Given the description of an element on the screen output the (x, y) to click on. 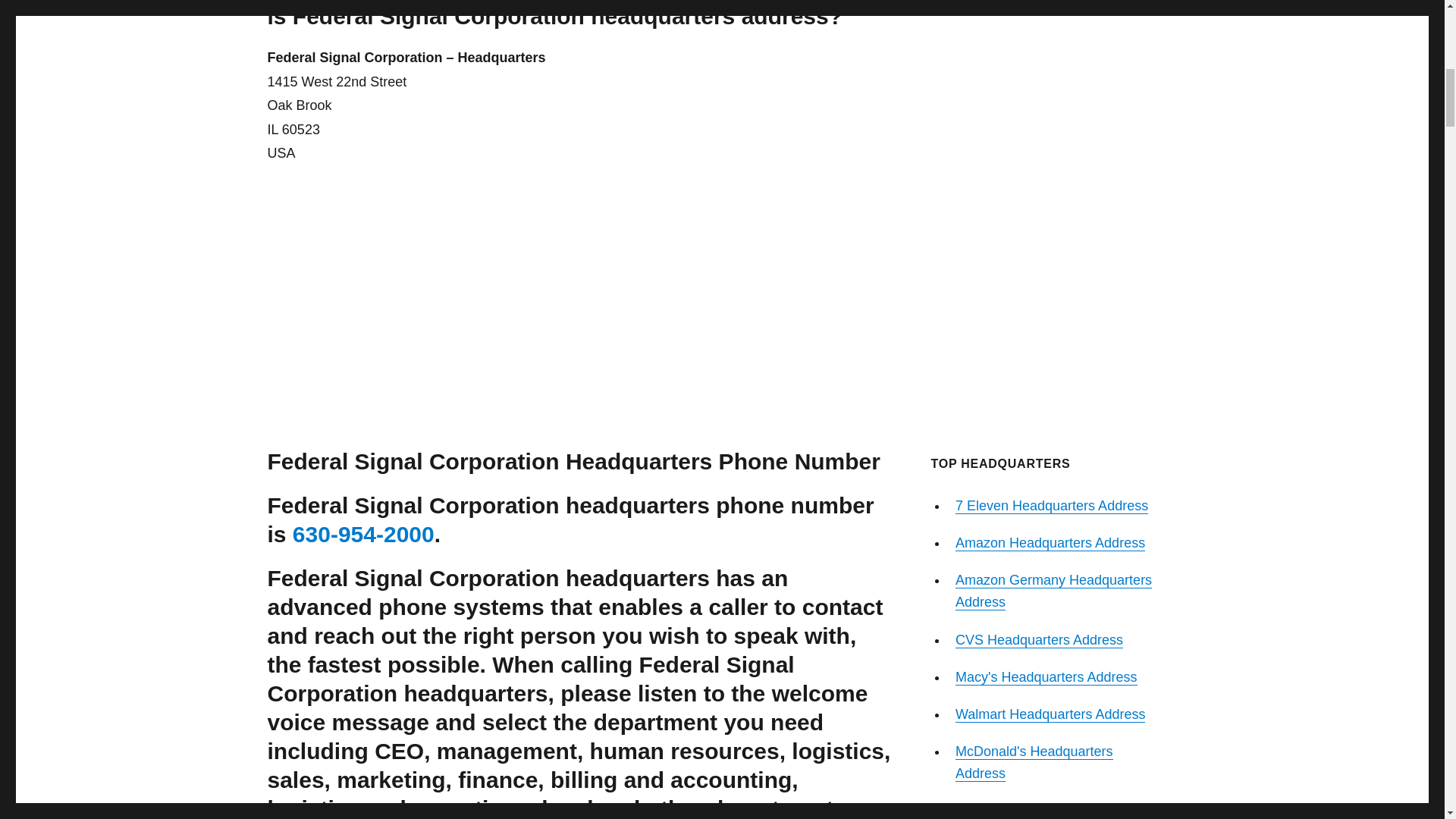
Amazon Germany Headquarters Address (1053, 590)
Walmart Headquarters Address (1049, 713)
Target Headquarters Address (1043, 810)
7 Eleven Headquarters Address (1051, 505)
630-954-2000 (362, 534)
Amazon Headquarters Address (1049, 542)
McDonald's Headquarters Address (1034, 762)
Macy's Headquarters Address (1046, 676)
CVS Headquarters Address (1038, 639)
